Given the description of an element on the screen output the (x, y) to click on. 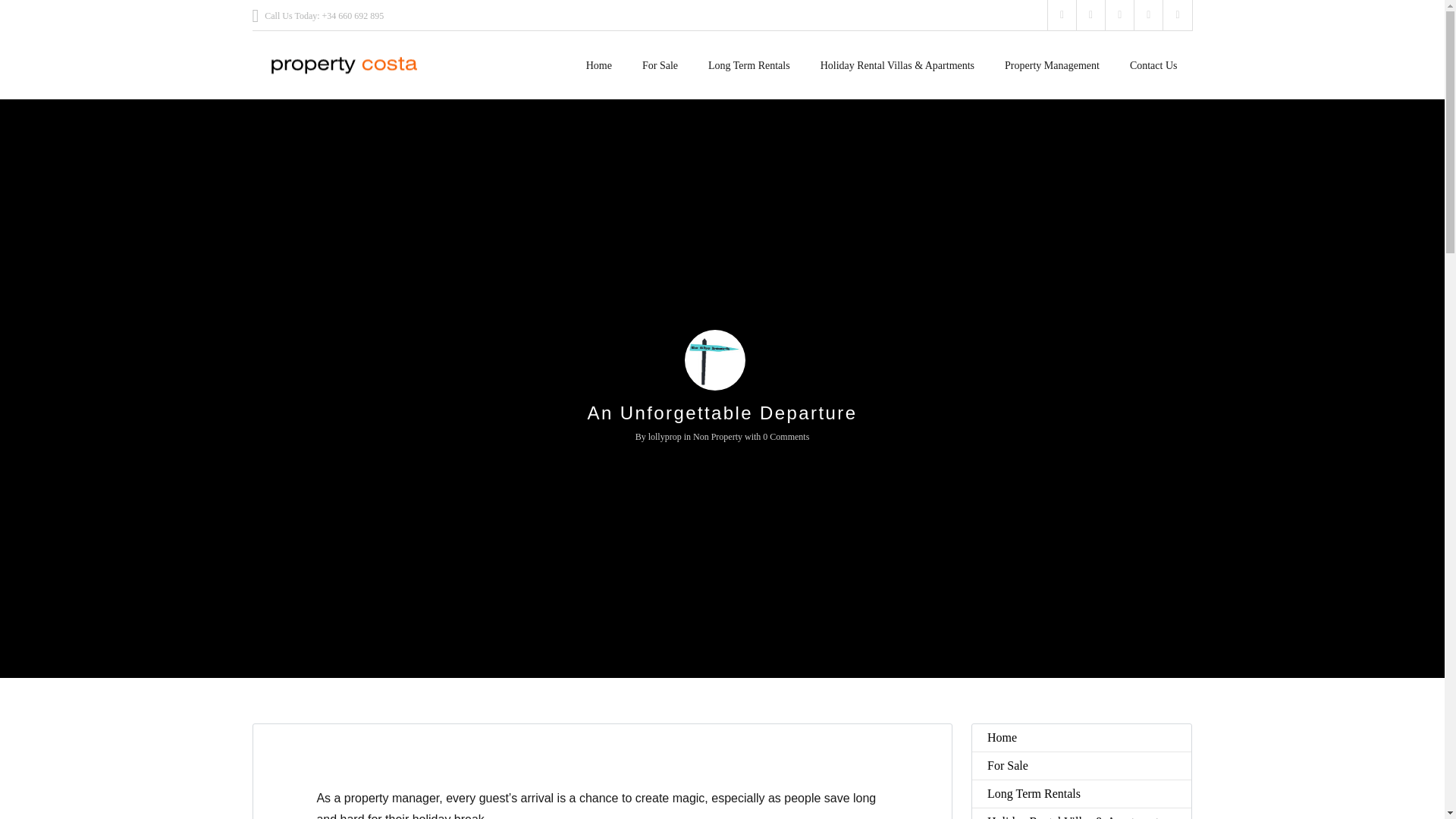
Property Management (1052, 57)
Non Property (717, 436)
Posts by lollyprop (664, 436)
lollyprop (664, 436)
0 Comments (785, 436)
Long Term Rentals (749, 57)
Contact Us (1153, 57)
Home (598, 57)
For Sale (660, 57)
